Given the description of an element on the screen output the (x, y) to click on. 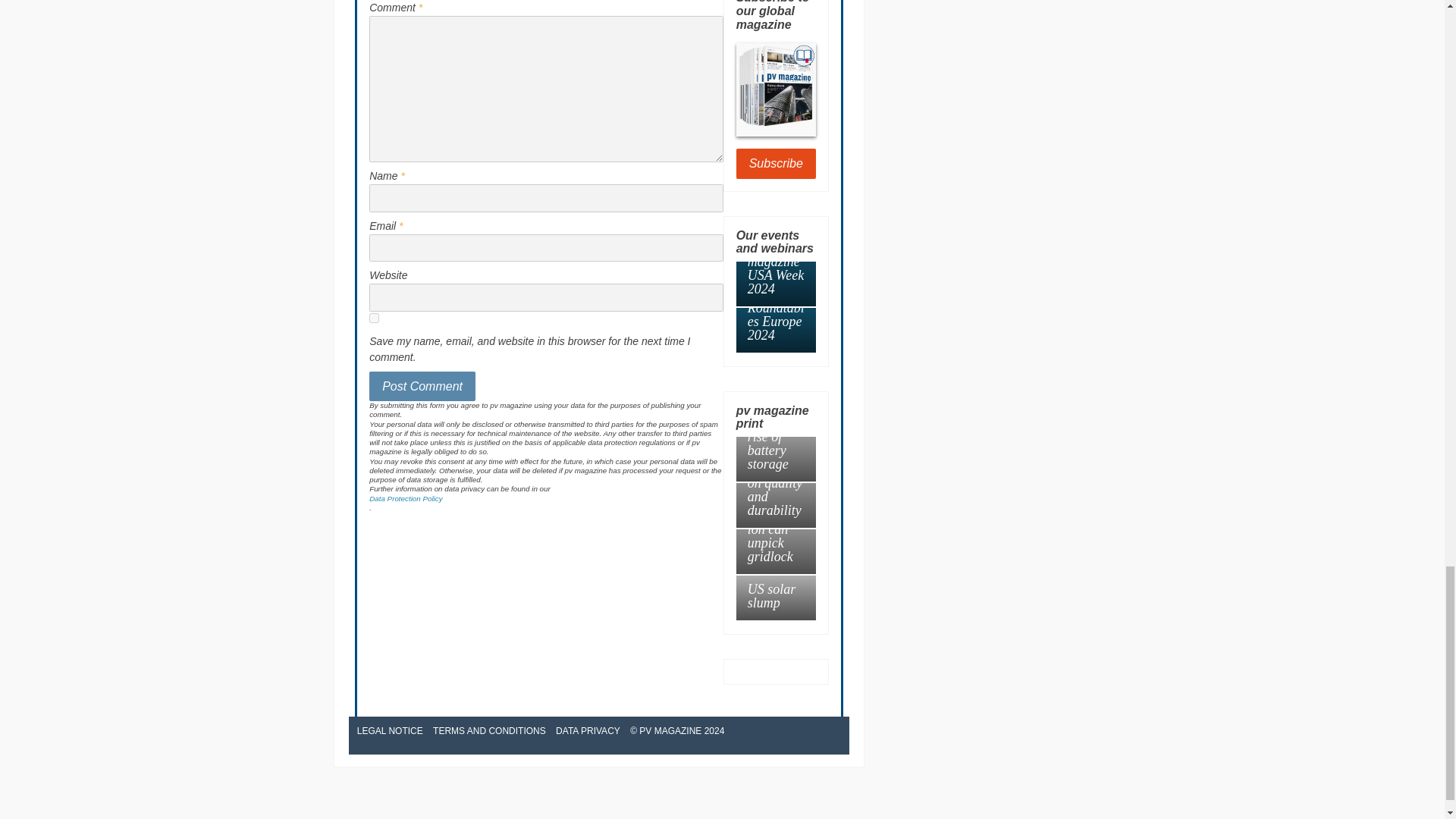
yes (373, 317)
Post Comment (422, 386)
